Given the description of an element on the screen output the (x, y) to click on. 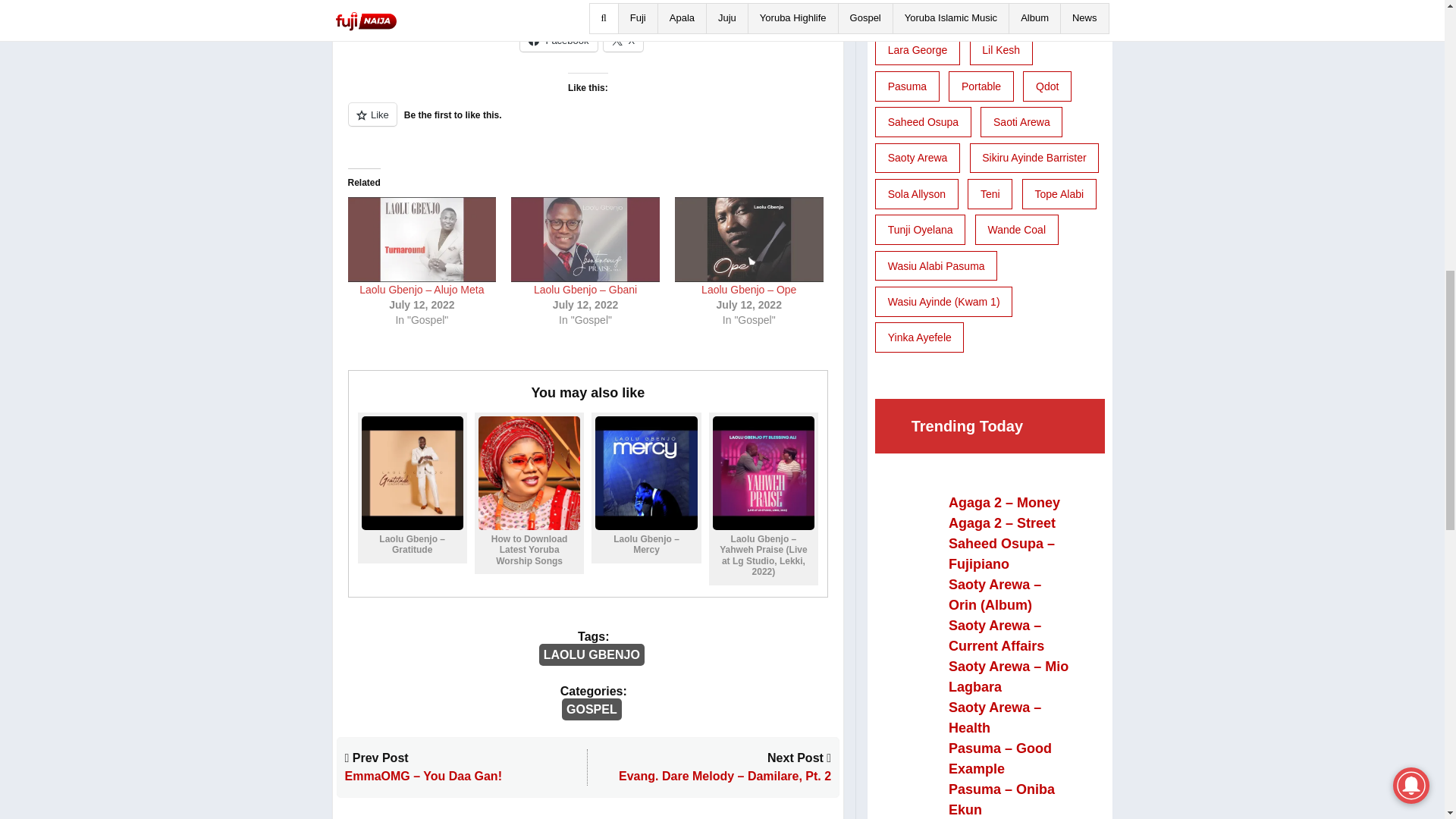
Click to share on X (623, 39)
Click to share on Facebook (557, 39)
Like or Reblog (587, 123)
